Given the description of an element on the screen output the (x, y) to click on. 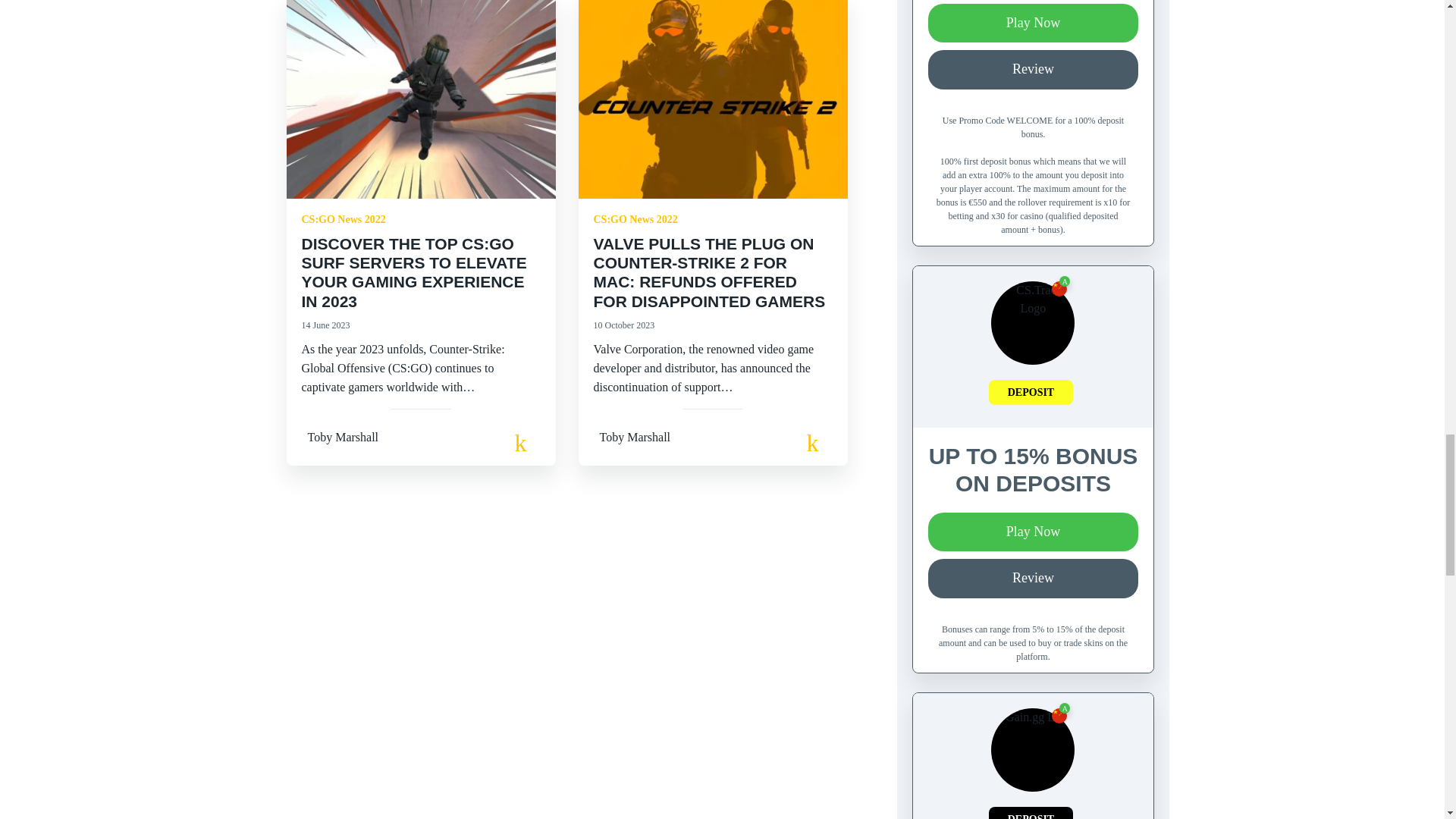
This Site Review is available in China (1059, 715)
This Site Review is available in China (1059, 288)
